Given the description of an element on the screen output the (x, y) to click on. 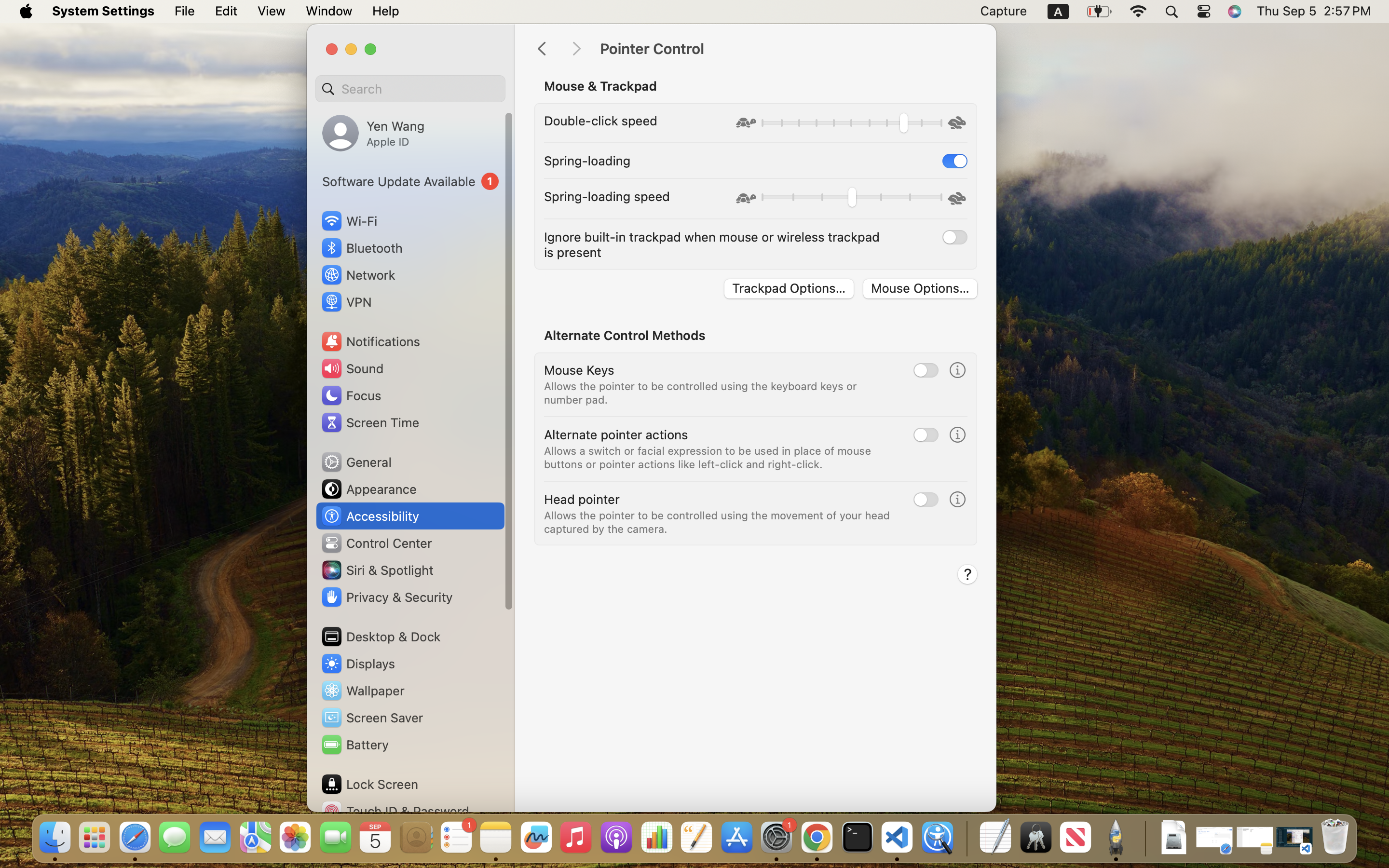
Allows the pointer to be controlled using the movement of your head captured by the camera. Element type: AXStaticText (718, 521)
Sound Element type: AXStaticText (351, 367)
Ignore built-in trackpad when mouse or wireless trackpad is present Element type: AXStaticText (713, 243)
Lock Screen Element type: AXStaticText (369, 783)
Allows a switch or facial expression to be used in place of mouse buttons or pointer actions like left-click and right-click. Element type: AXStaticText (708, 456)
